Given the description of an element on the screen output the (x, y) to click on. 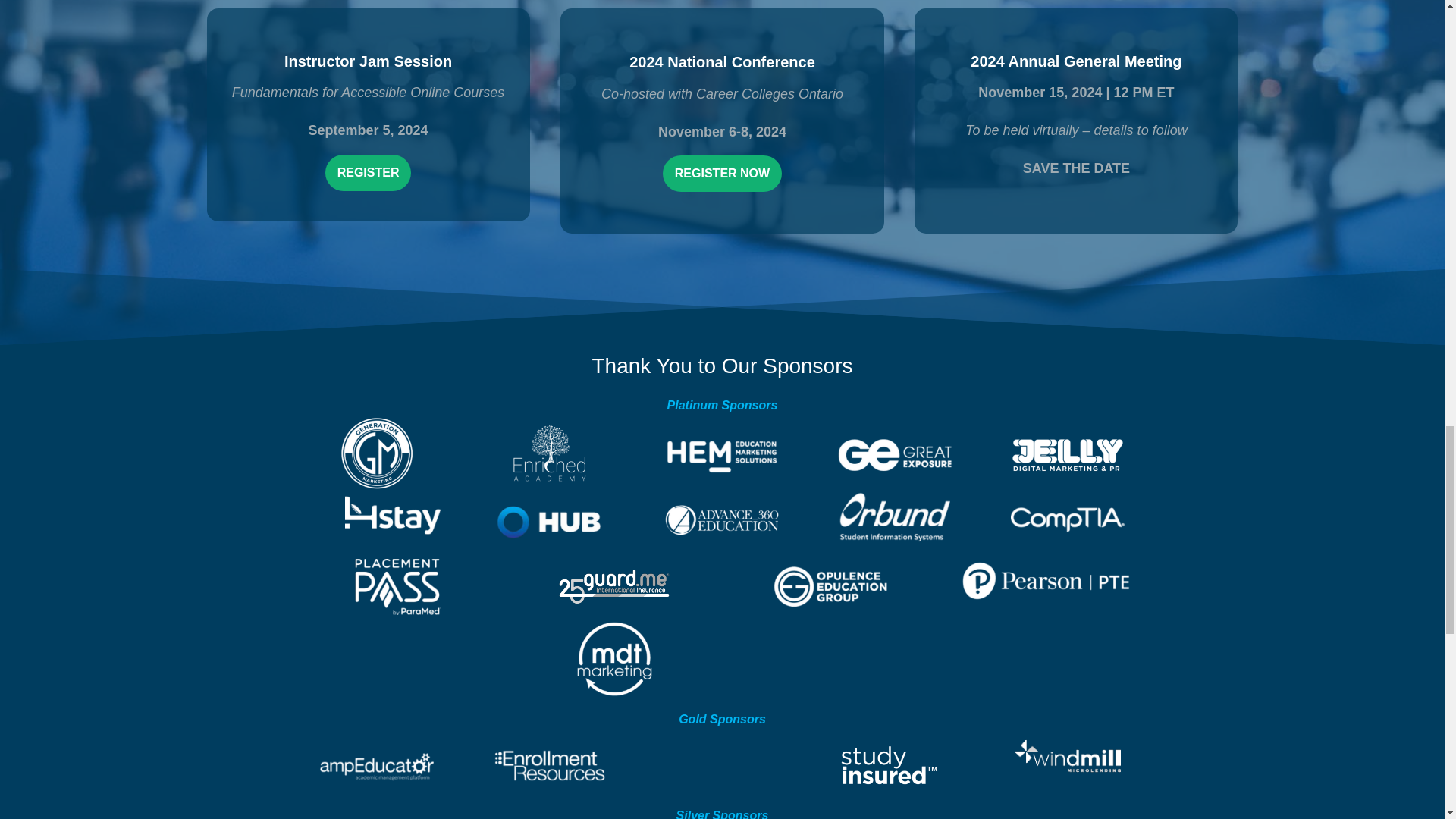
15 (1067, 455)
OrbundLogocrop (895, 517)
